Given the description of an element on the screen output the (x, y) to click on. 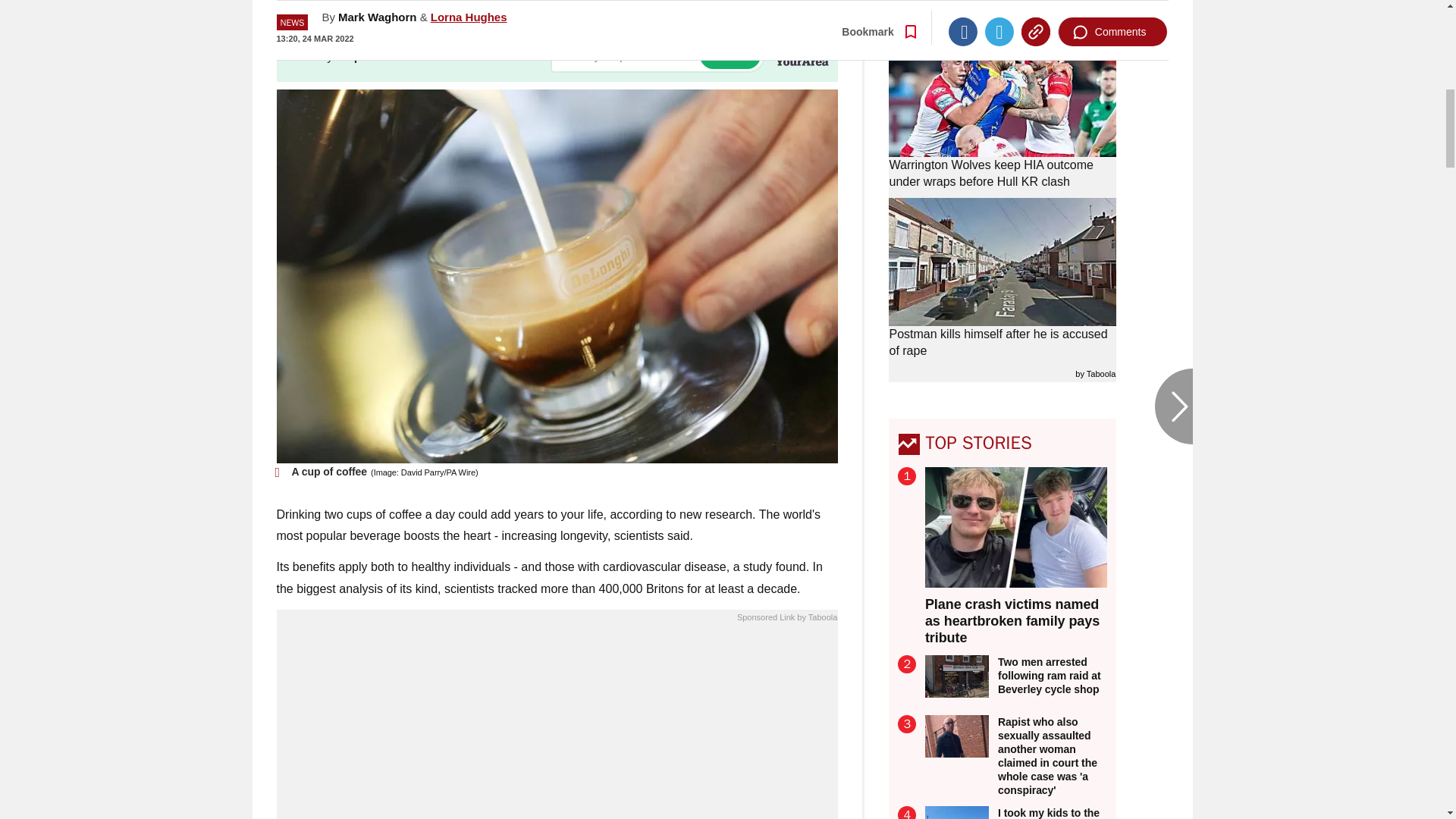
Go (730, 55)
